Given the description of an element on the screen output the (x, y) to click on. 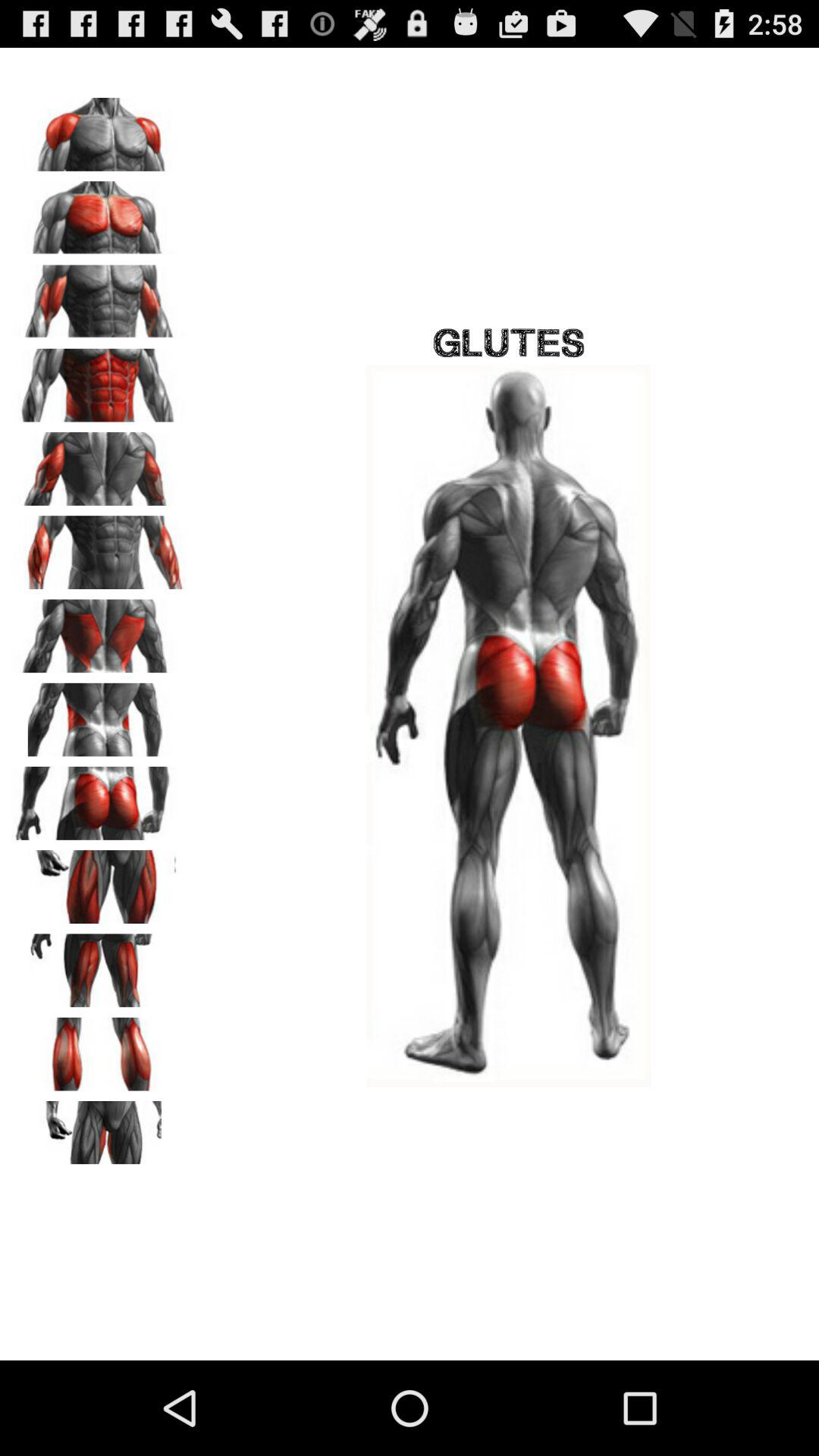
click on this picture (99, 463)
